Given the description of an element on the screen output the (x, y) to click on. 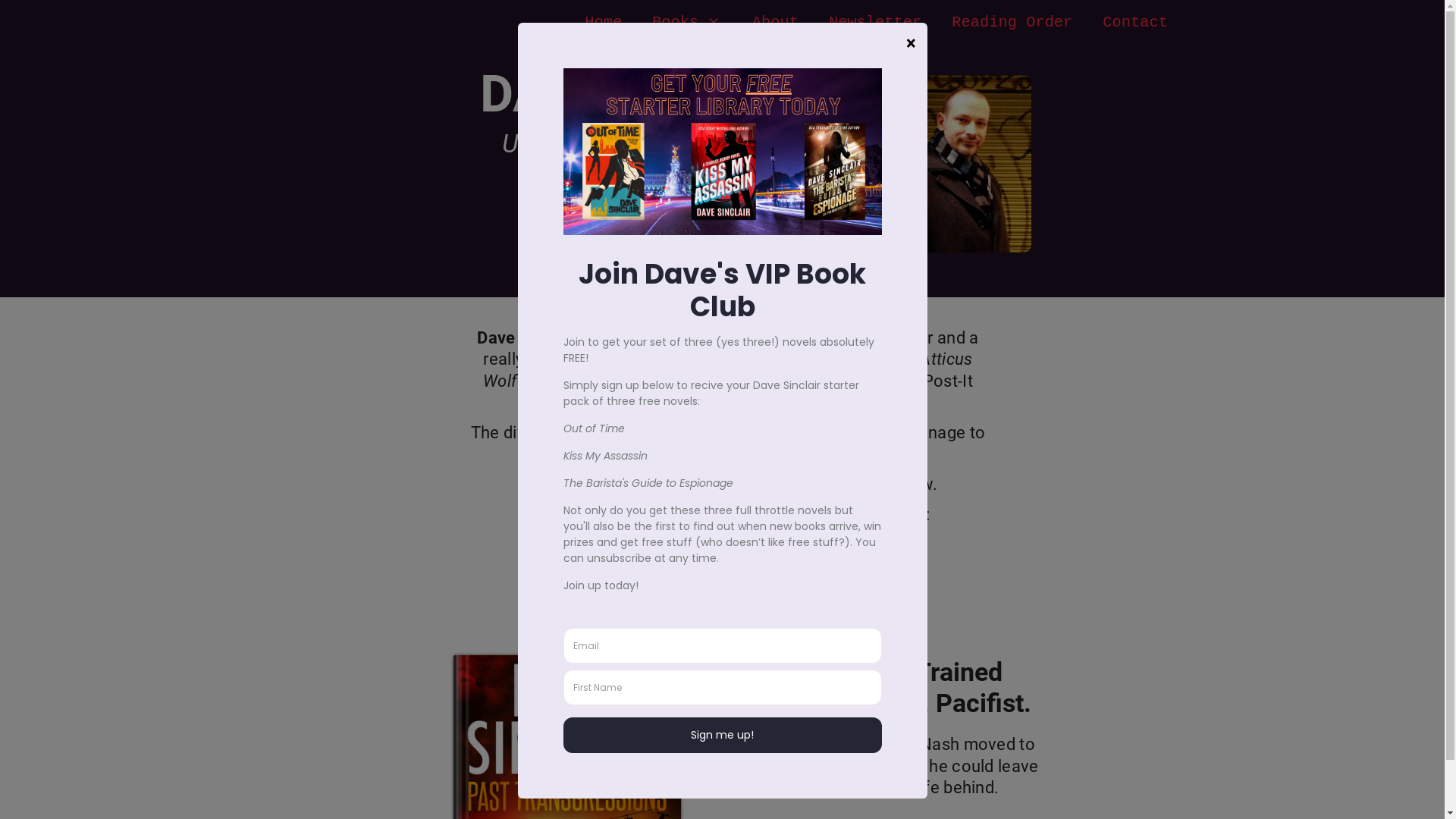
Home Element type: text (603, 22)
Reading Order Element type: text (1011, 22)
Newsletter Element type: text (874, 22)
About Element type: text (775, 22)
Books Element type: text (687, 22)
Contact Element type: text (1135, 22)
